Given the description of an element on the screen output the (x, y) to click on. 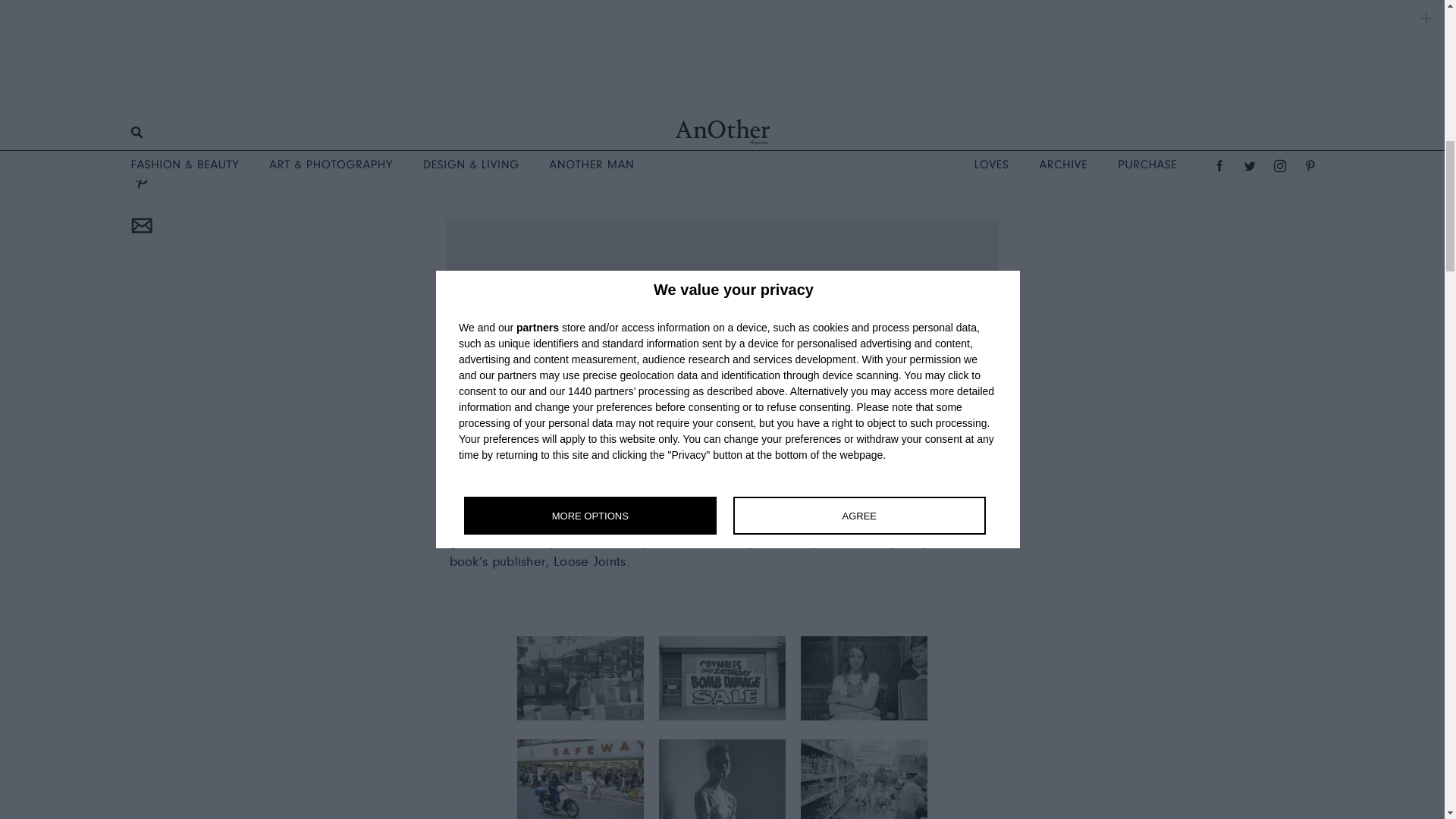
Orla Brennan (734, 87)
Pinterest (140, 179)
Twitter (140, 134)
Facebook (140, 90)
Email (140, 224)
17 May 2022 (721, 67)
The Well (640, 462)
